Given the description of an element on the screen output the (x, y) to click on. 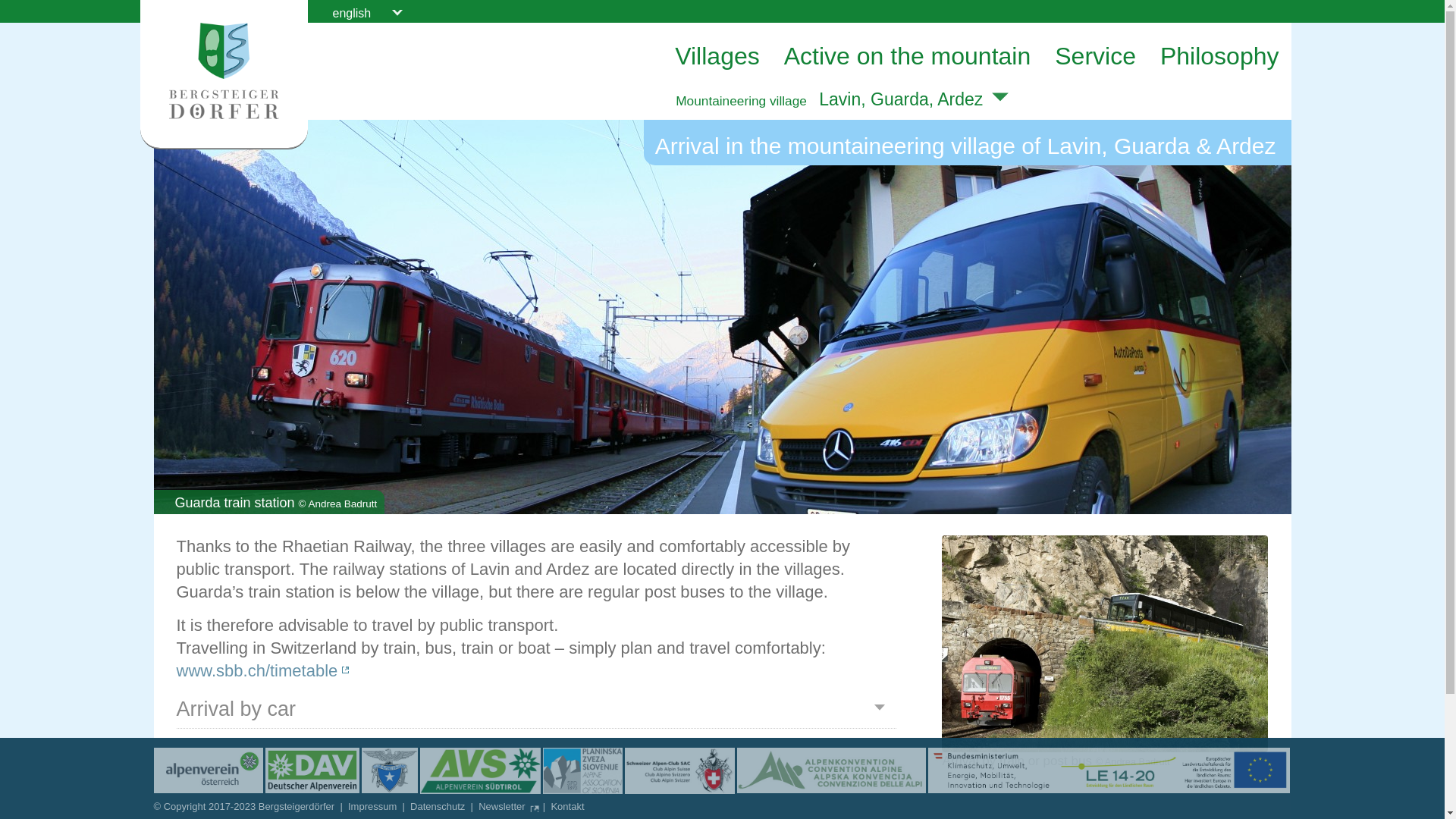
english (366, 12)
